Given the description of an element on the screen output the (x, y) to click on. 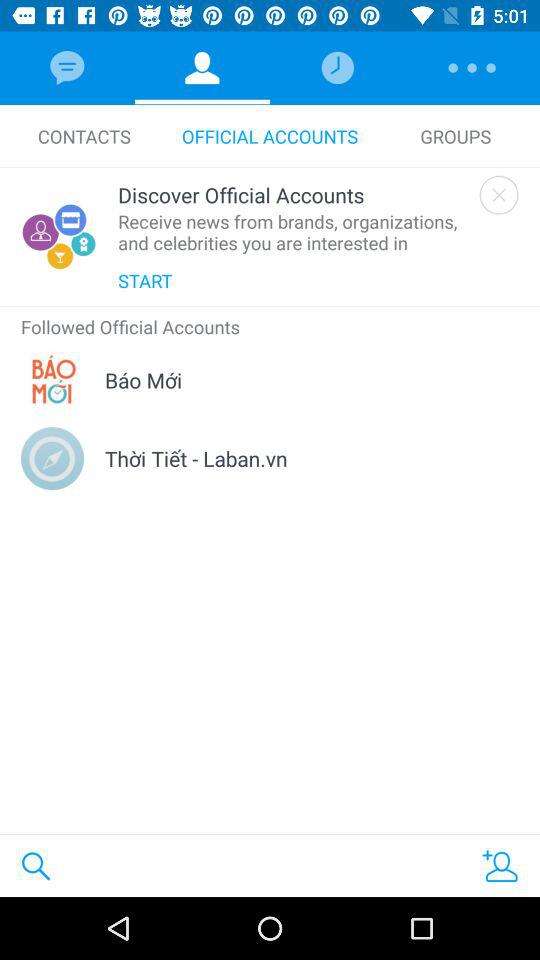
tap the groups icon (455, 136)
